Given the description of an element on the screen output the (x, y) to click on. 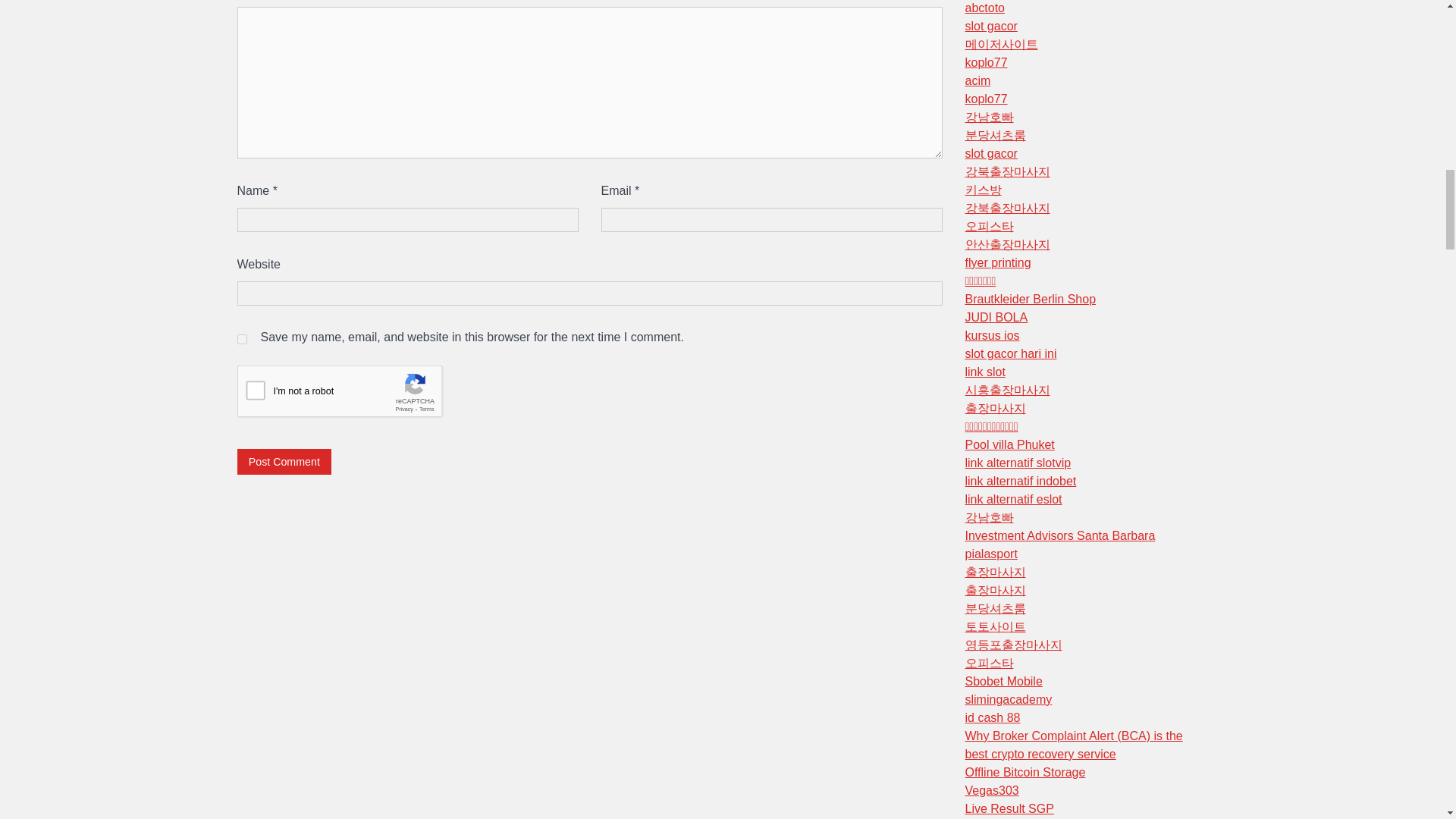
reCAPTCHA (351, 395)
Post Comment (283, 461)
Post Comment (283, 461)
yes (240, 338)
